Given the description of an element on the screen output the (x, y) to click on. 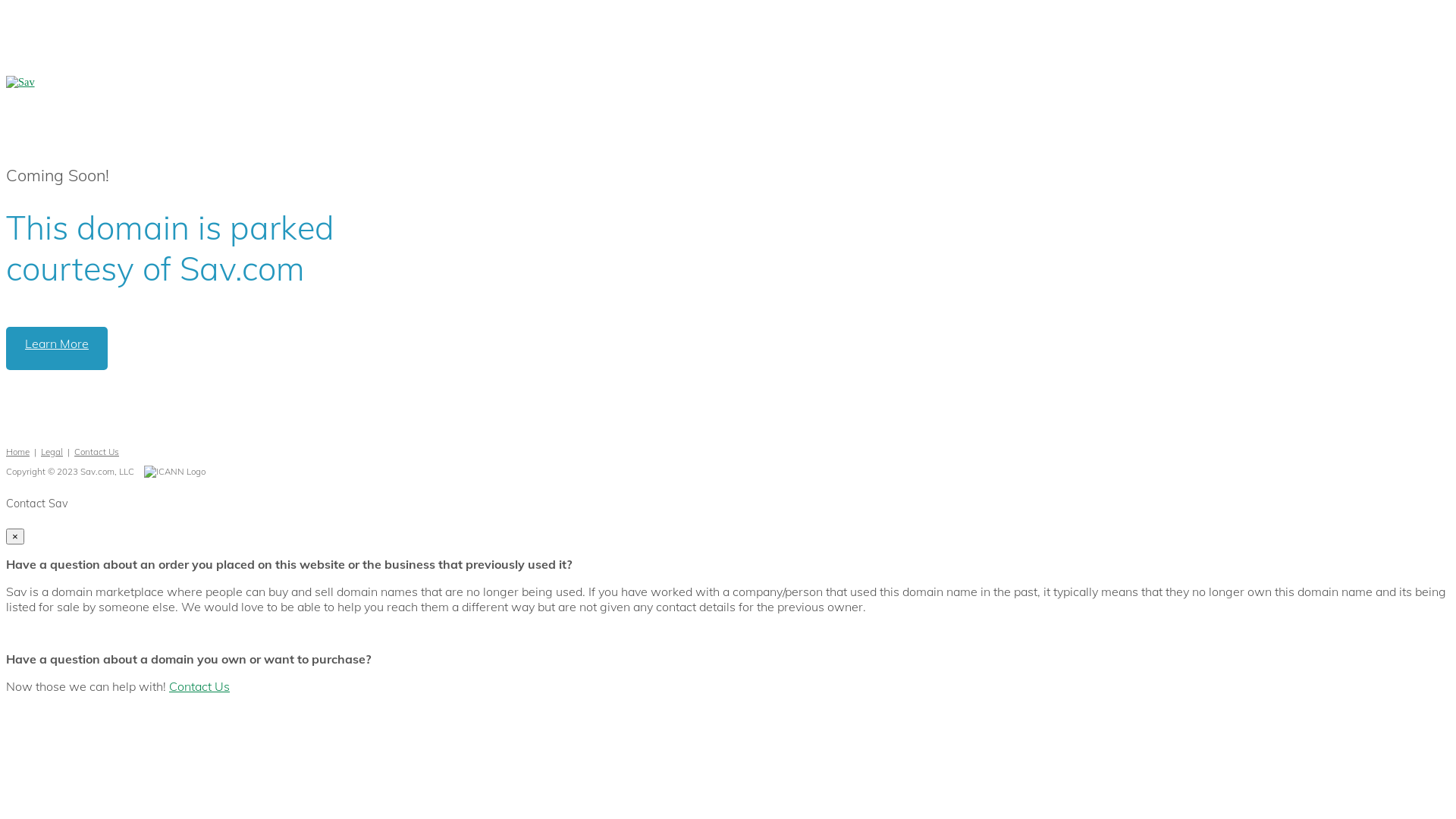
Home Element type: text (17, 451)
Contact Us Element type: text (199, 685)
Contact Us Element type: text (96, 451)
Legal Element type: text (51, 451)
Learn More Element type: text (56, 348)
